Given the description of an element on the screen output the (x, y) to click on. 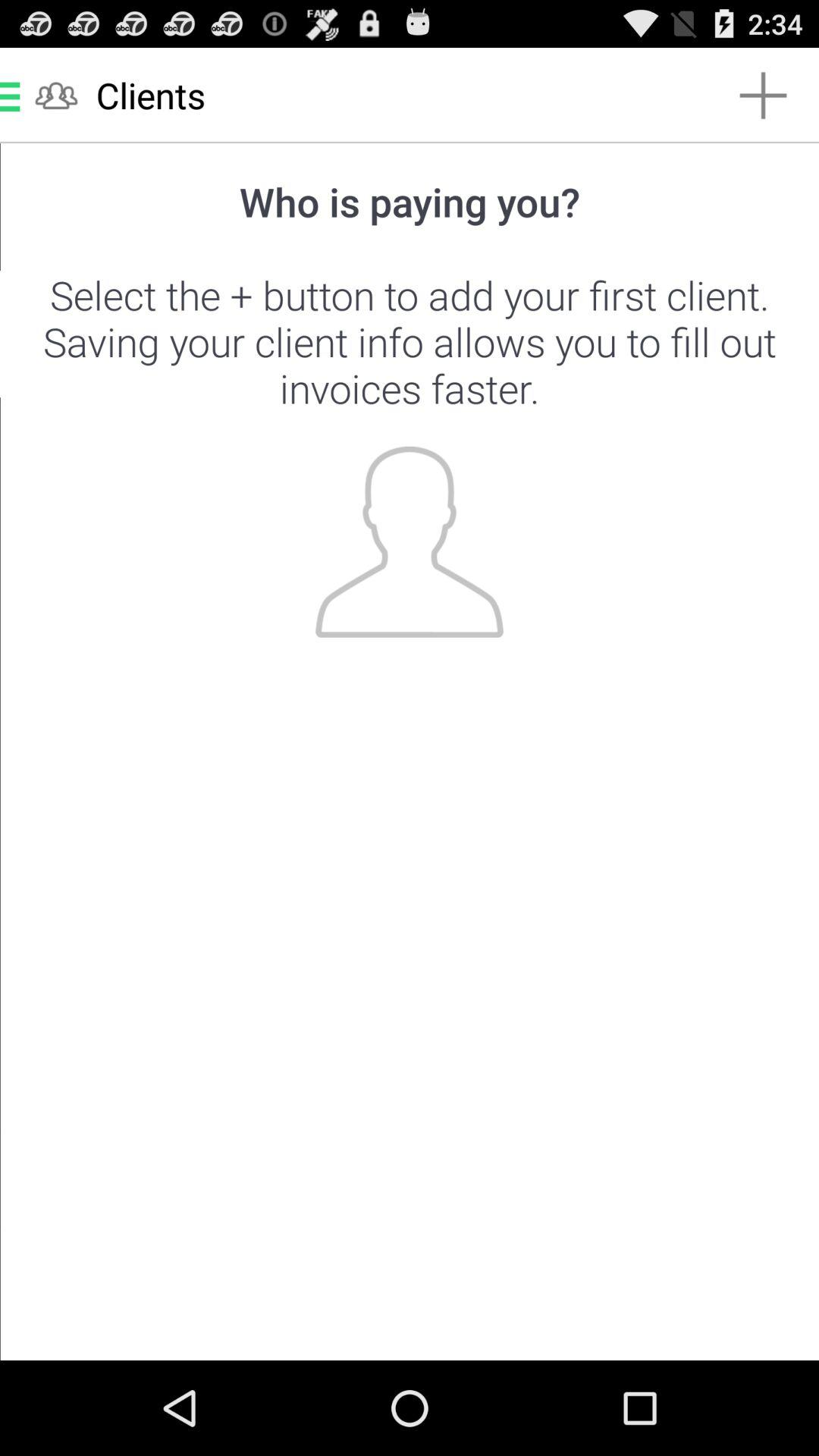
new client information (409, 751)
